Given the description of an element on the screen output the (x, y) to click on. 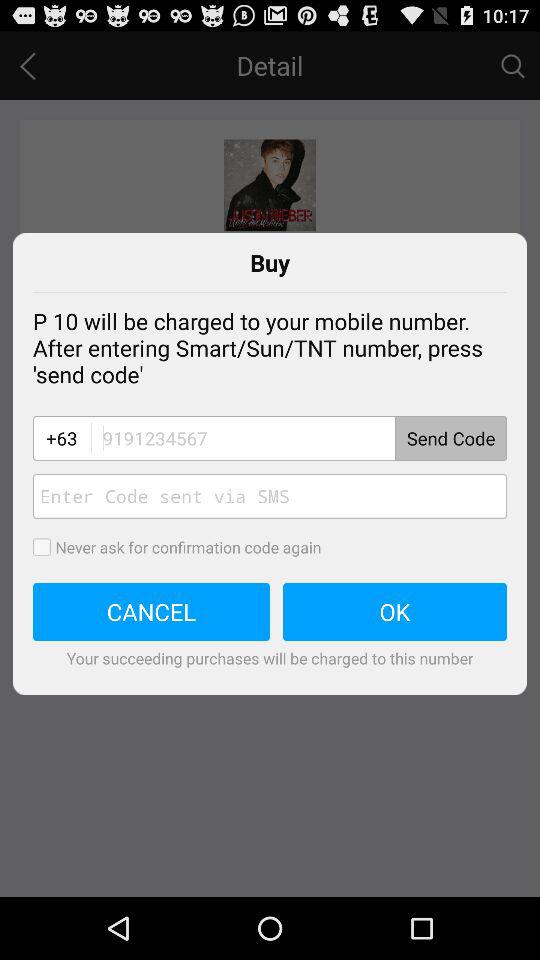
choose cancel item (151, 611)
